Given the description of an element on the screen output the (x, y) to click on. 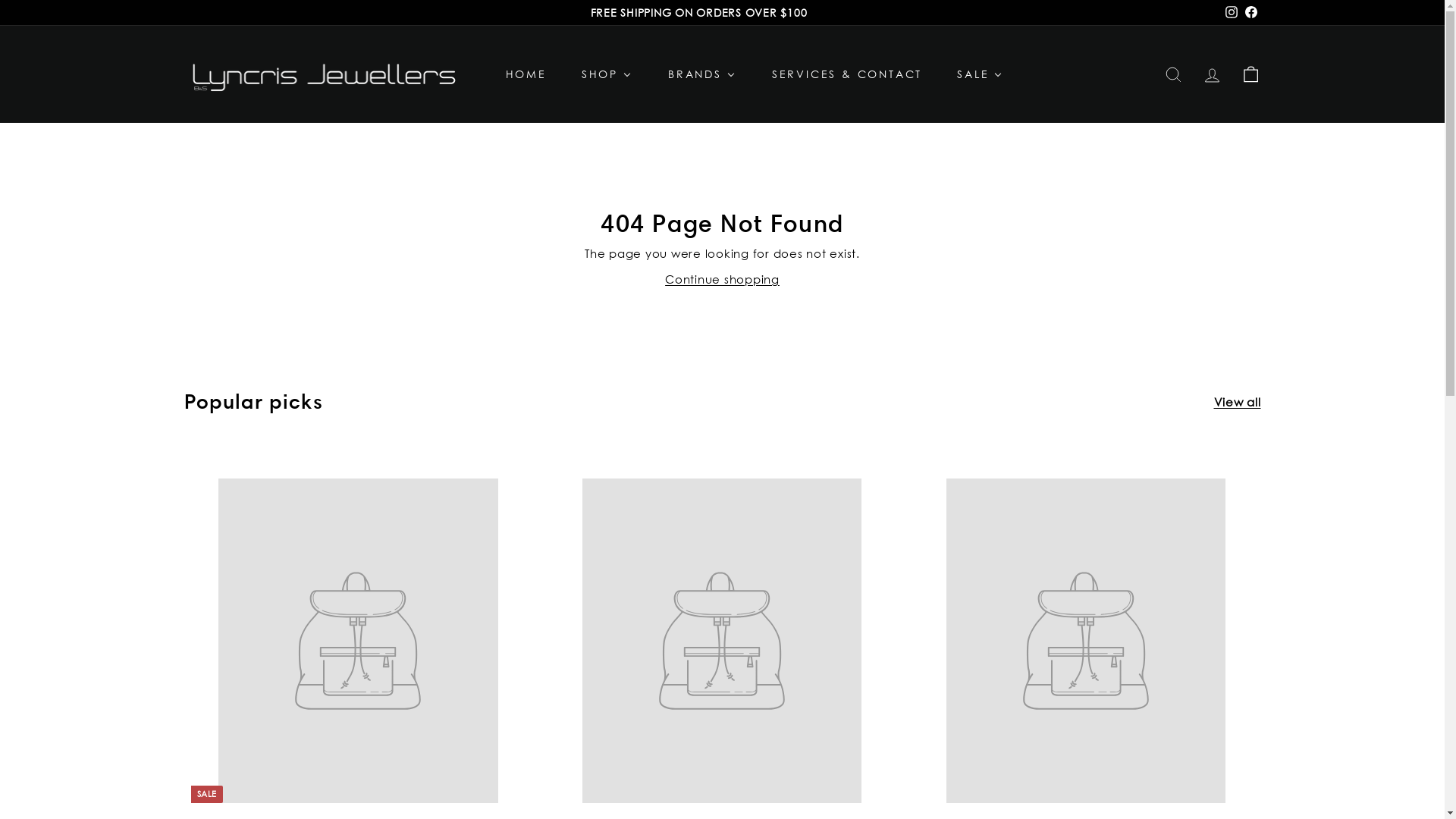
ACCOUNT Element type: text (1211, 74)
BRANDS Element type: text (701, 73)
SHOP Element type: text (606, 73)
HOME Element type: text (524, 73)
instagram
Instagram Element type: text (1230, 12)
SALE Element type: text (979, 73)
Continue shopping Element type: text (722, 278)
SERVICES & CONTACT Element type: text (845, 73)
View all Element type: text (1236, 401)
Facebook Element type: text (1250, 12)
SEARCH Element type: text (1173, 74)
